Given the description of an element on the screen output the (x, y) to click on. 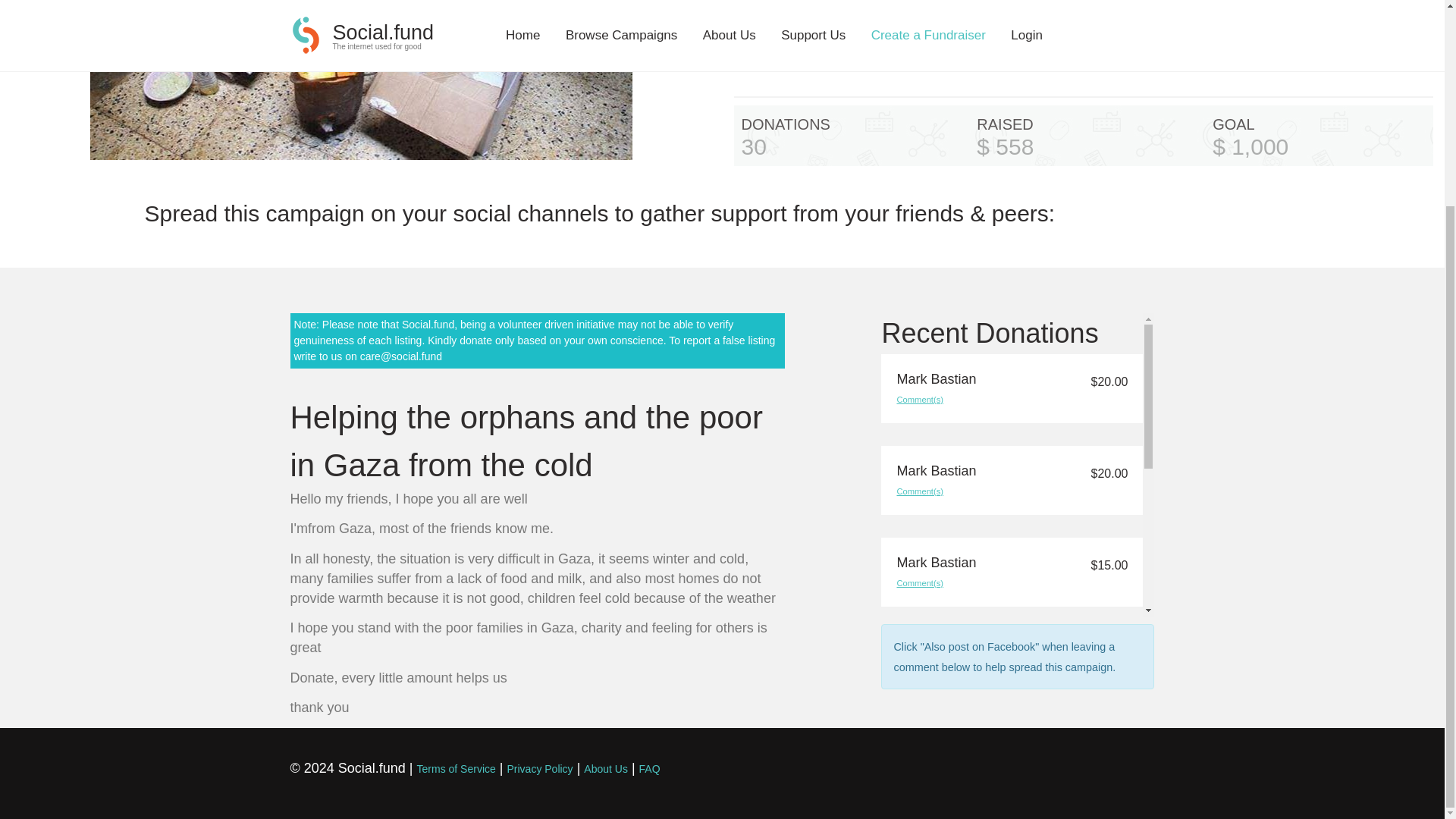
DONATE TO SOCIAL.FUND (1083, 32)
FAQ (650, 768)
About Us (605, 768)
Privacy Policy (539, 768)
Terms of Service (456, 768)
